Given the description of an element on the screen output the (x, y) to click on. 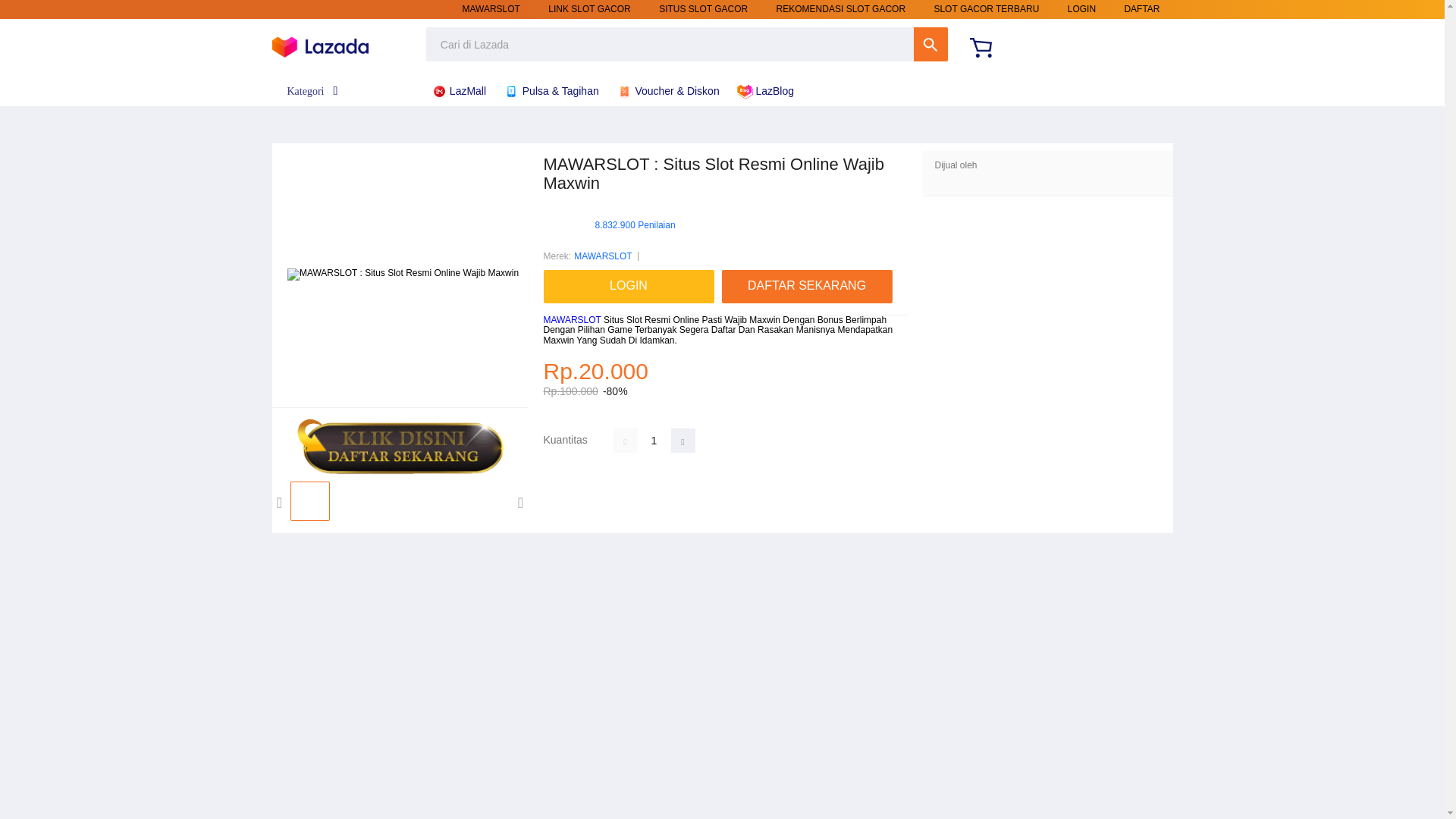
1 (653, 440)
LOGIN (1081, 9)
Cari (930, 44)
MAWARSLOT (491, 9)
SITUS SLOT GACOR (703, 9)
DAFTAR (1141, 9)
